Given the description of an element on the screen output the (x, y) to click on. 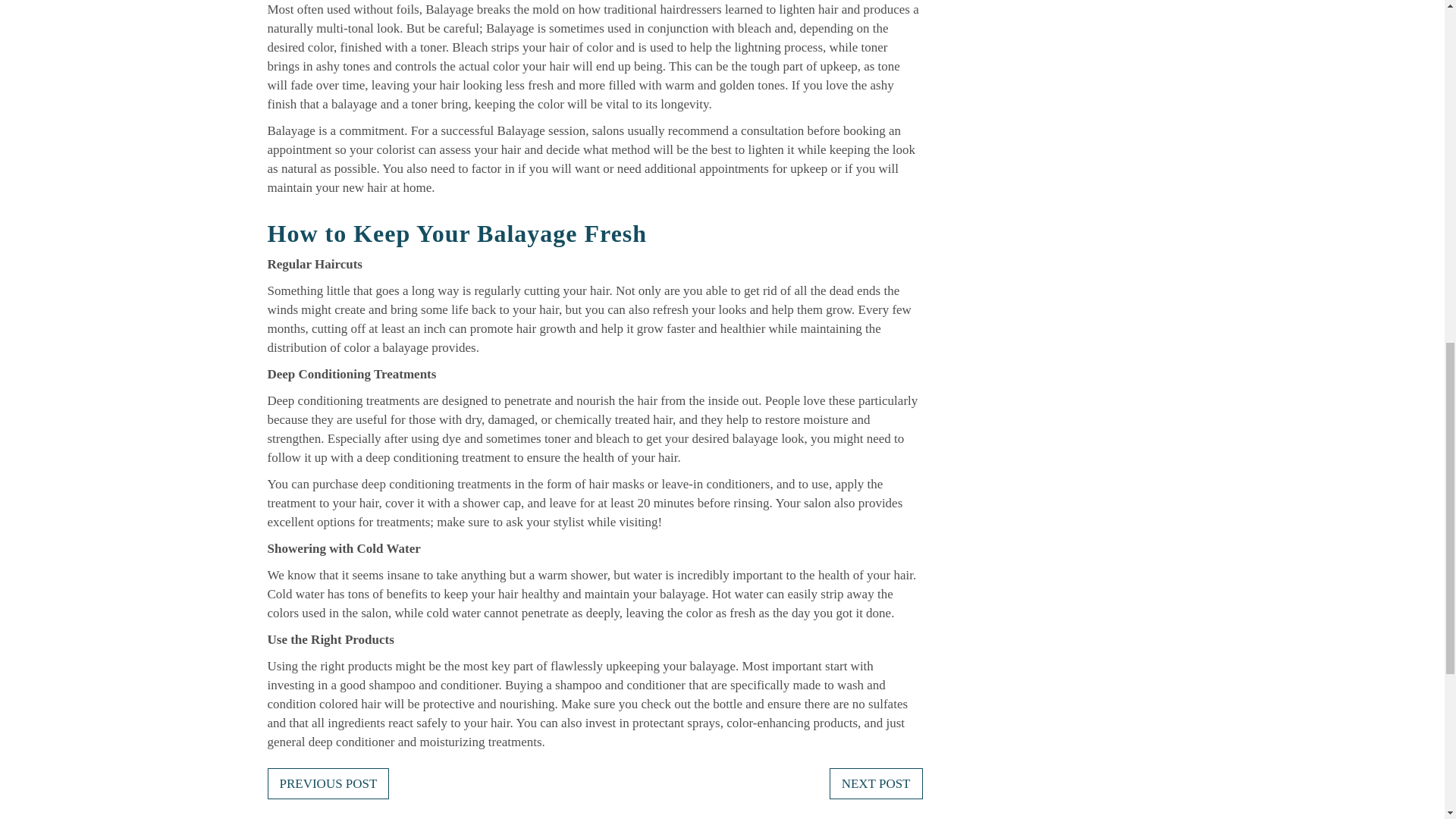
NEXT POST (876, 783)
PREVIOUS POST (327, 783)
